Given the description of an element on the screen output the (x, y) to click on. 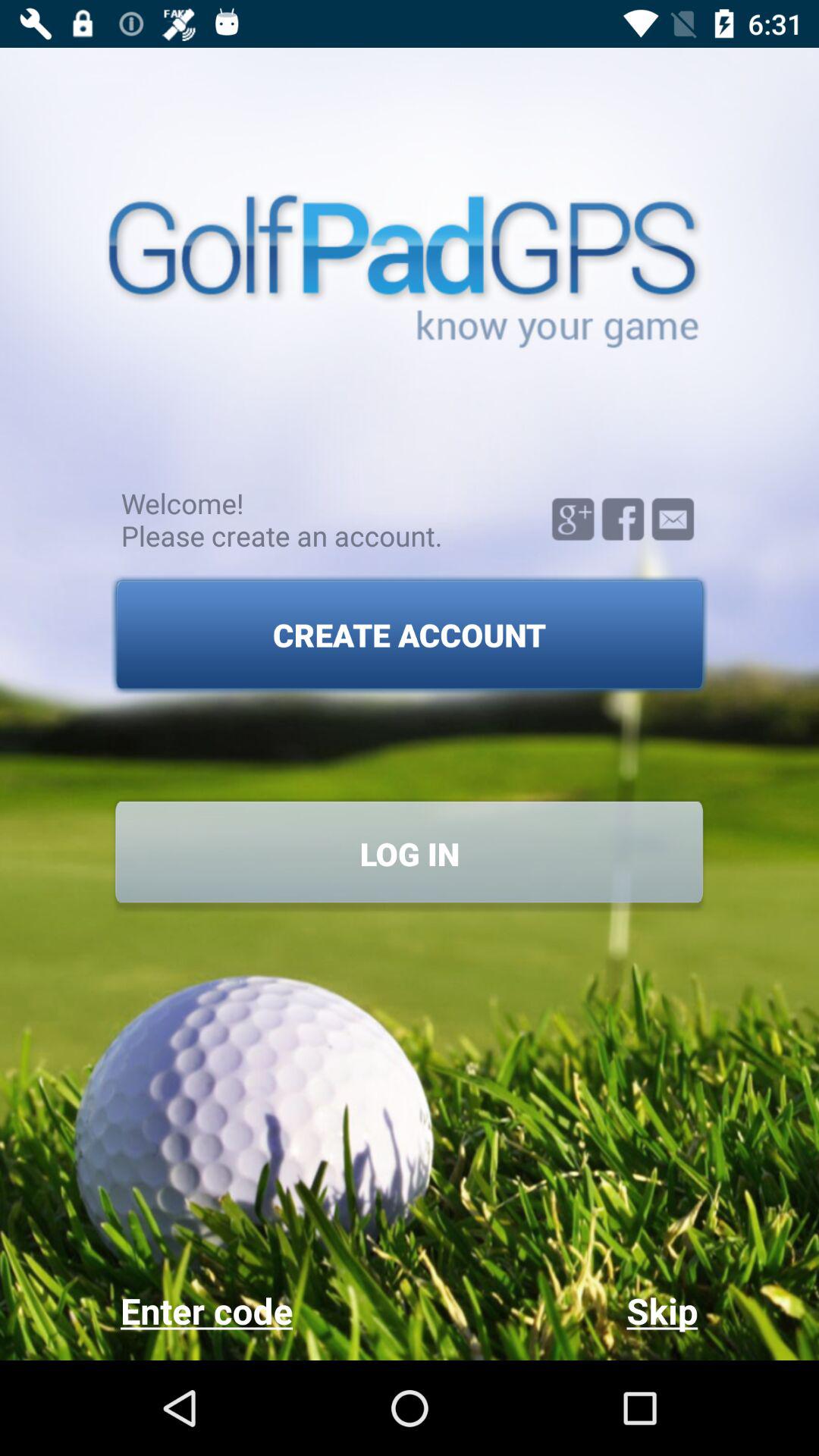
tap icon at the bottom left corner (264, 1310)
